Given the description of an element on the screen output the (x, y) to click on. 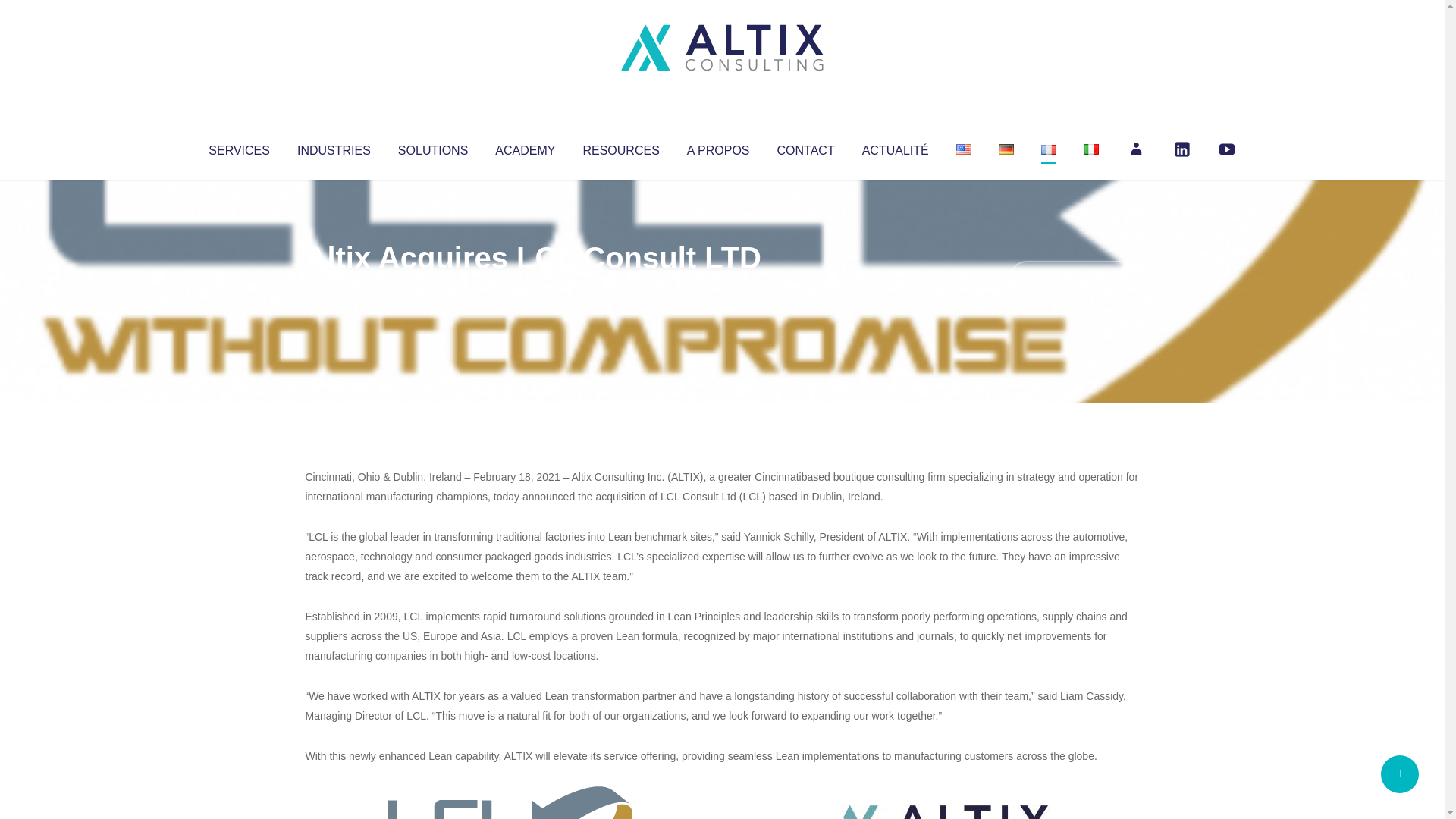
A PROPOS (718, 146)
SERVICES (238, 146)
Articles par Altix (333, 287)
RESOURCES (620, 146)
INDUSTRIES (334, 146)
ACADEMY (524, 146)
SOLUTIONS (432, 146)
No Comments (1073, 278)
Altix (333, 287)
Uncategorized (530, 287)
